Given the description of an element on the screen output the (x, y) to click on. 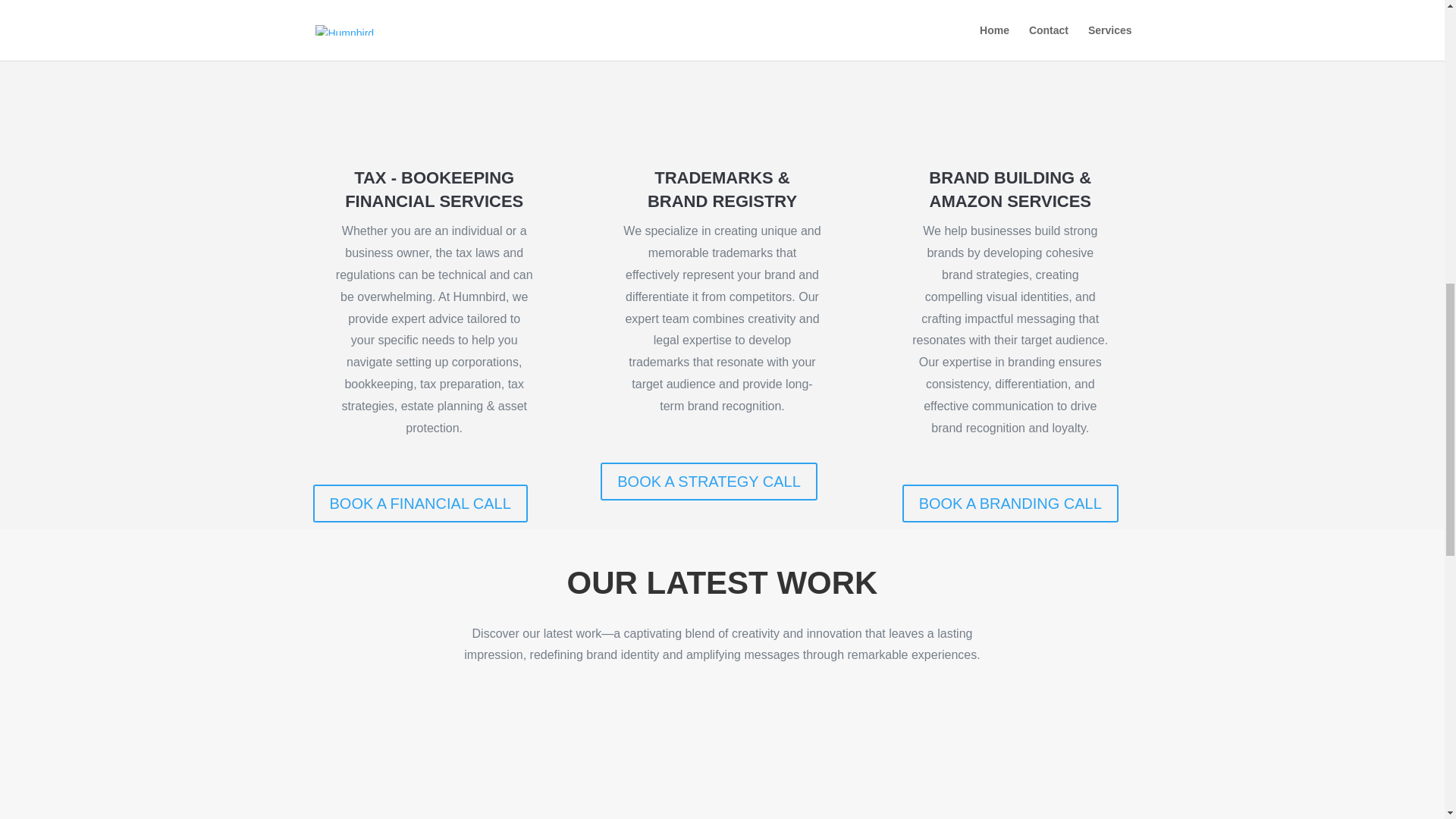
BOOK A BRANDING CALL (1010, 503)
BOOK A FINANCIAL CALL (420, 503)
BOOK A STRATEGY CALL (707, 481)
